Given the description of an element on the screen output the (x, y) to click on. 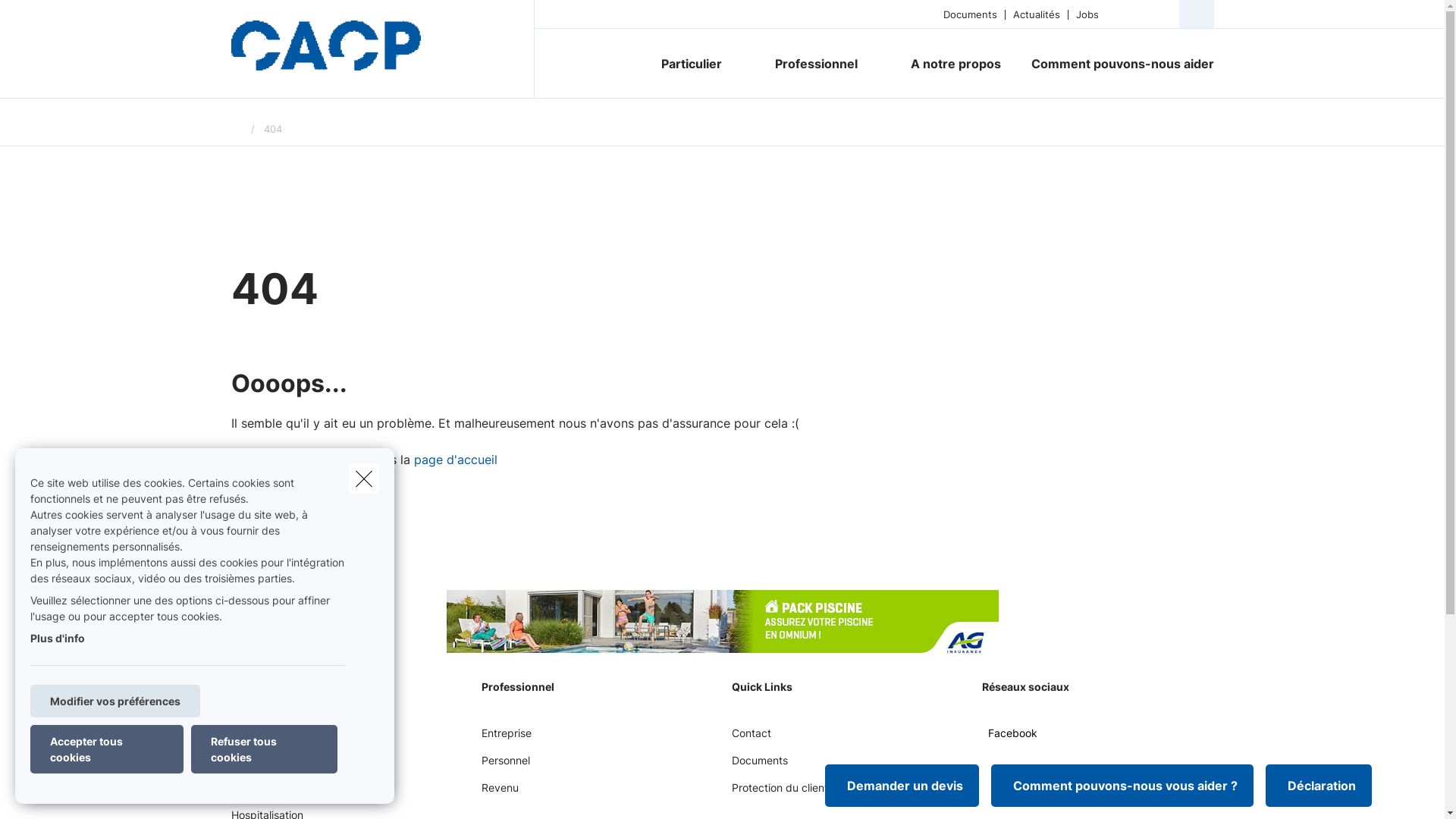
Rechercher Element type: text (54, 18)
Comment pouvons-nous vous aider ? Element type: text (1122, 785)
Habitation Element type: text (255, 765)
Personnel Element type: text (504, 765)
Jobs Element type: text (1086, 13)
Revenu Element type: text (498, 792)
Protection du client Element type: text (779, 792)
Entreprise Element type: text (505, 738)
Comment pouvons-nous aider Element type: text (1115, 63)
Plus d'info Element type: text (57, 637)
Documents Element type: text (969, 13)
Professionnel Element type: text (810, 63)
Facebook Element type: text (1008, 738)
Contact Element type: text (750, 738)
Demander un devis Element type: text (902, 785)
A notre propos Element type: text (954, 63)
Accepter tous cookies Element type: text (106, 748)
Famille et protection juridique Element type: text (303, 792)
page d'accueil Element type: text (455, 459)
Refuser tous cookies Element type: text (264, 748)
Documents Element type: text (759, 765)
Particulier Element type: text (685, 63)
